Given the description of an element on the screen output the (x, y) to click on. 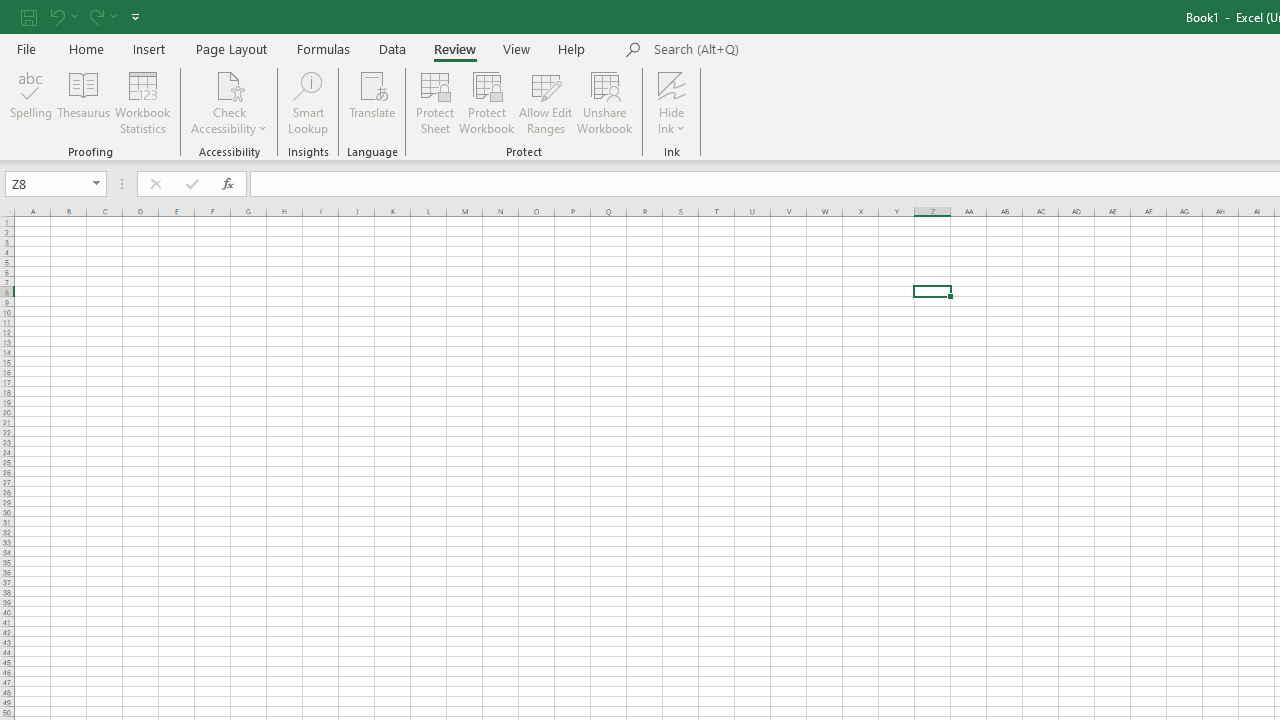
Allow Edit Ranges (545, 102)
Translate (372, 102)
